Given the description of an element on the screen output the (x, y) to click on. 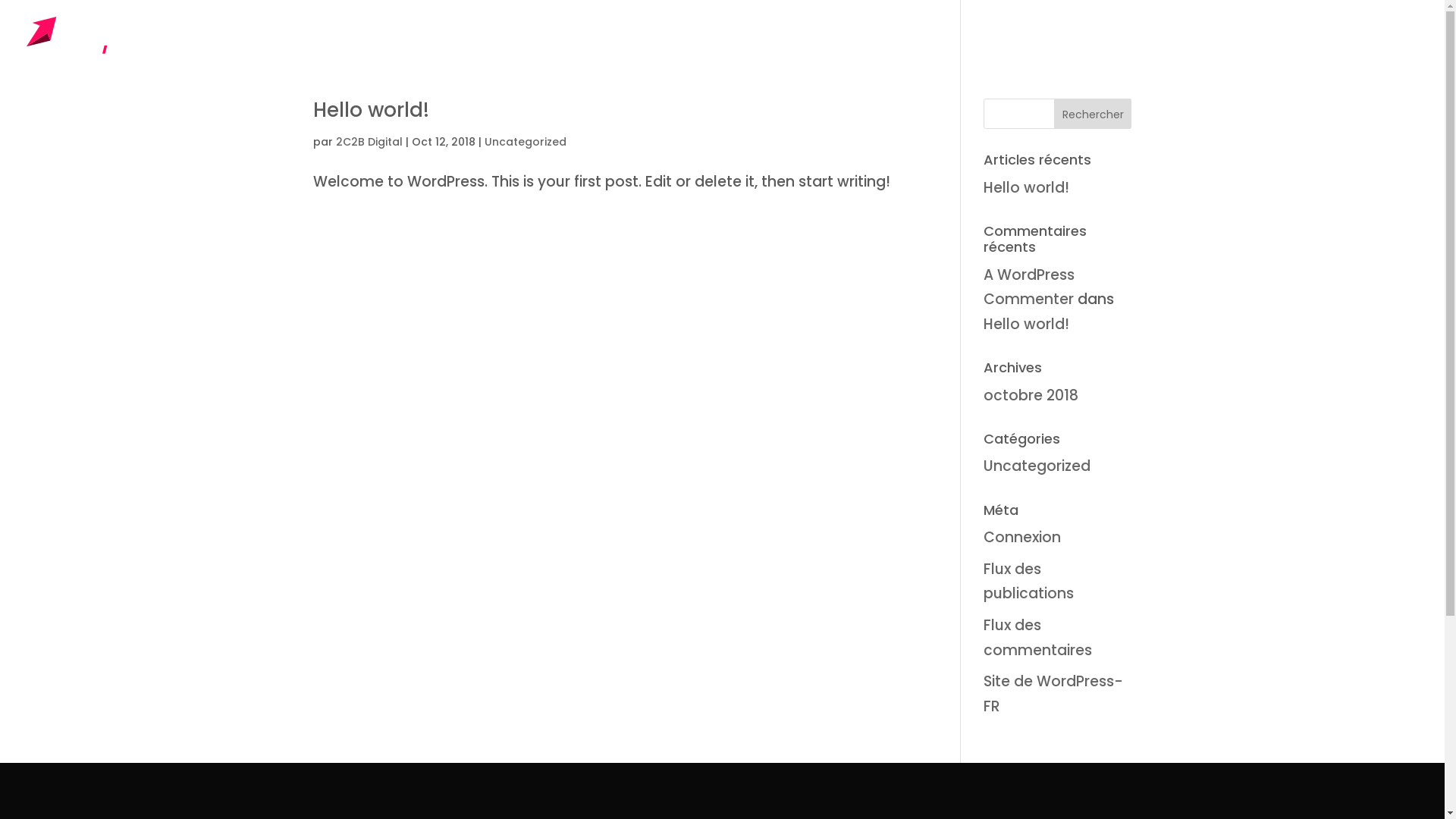
Site de WordPress-FR Element type: text (1053, 693)
Flux des publications Element type: text (1028, 580)
octobre 2018 Element type: text (1030, 395)
Hello world! Element type: text (1026, 187)
Uncategorized Element type: text (524, 141)
Hello world! Element type: text (370, 109)
Connexion Element type: text (1021, 537)
Hello world! Element type: text (1026, 323)
Uncategorized Element type: text (1036, 465)
Rechercher Element type: text (1093, 113)
A WordPress Commenter Element type: text (1028, 286)
Flux des commentaires Element type: text (1037, 637)
2C2B Digital Element type: text (368, 141)
